Given the description of an element on the screen output the (x, y) to click on. 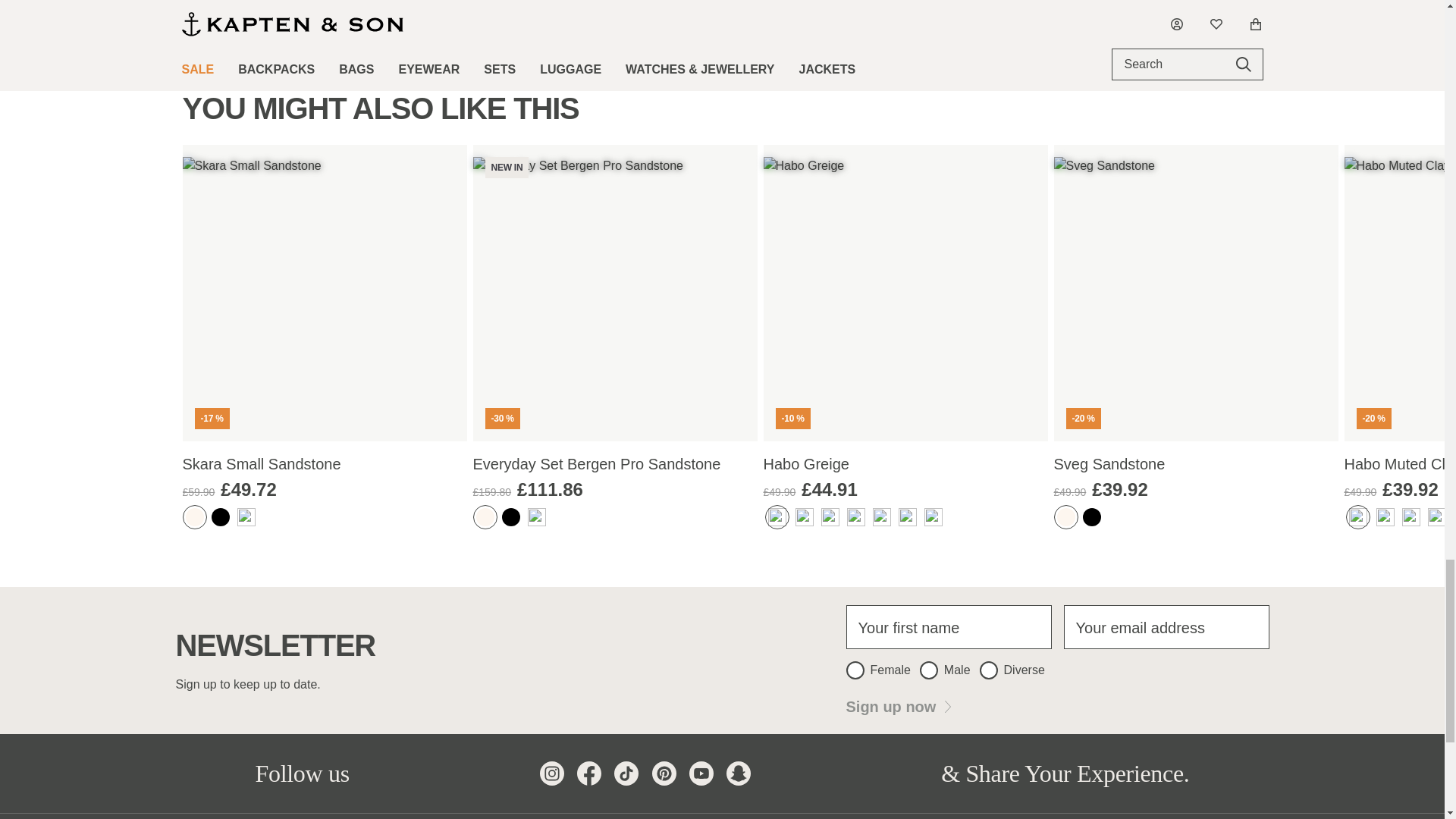
Everyday Set Bergen Pro Sandstone - Black (511, 516)
Skara Small Sandstone - Greige (245, 516)
Skara Small Sandstone - Sandstone (194, 516)
diverse (988, 669)
Skara Small Sandstone - Black (220, 516)
weiblich (854, 669)
Everyday Set Bergen Pro Sandstone - Sandstone (486, 516)
